Given the description of an element on the screen output the (x, y) to click on. 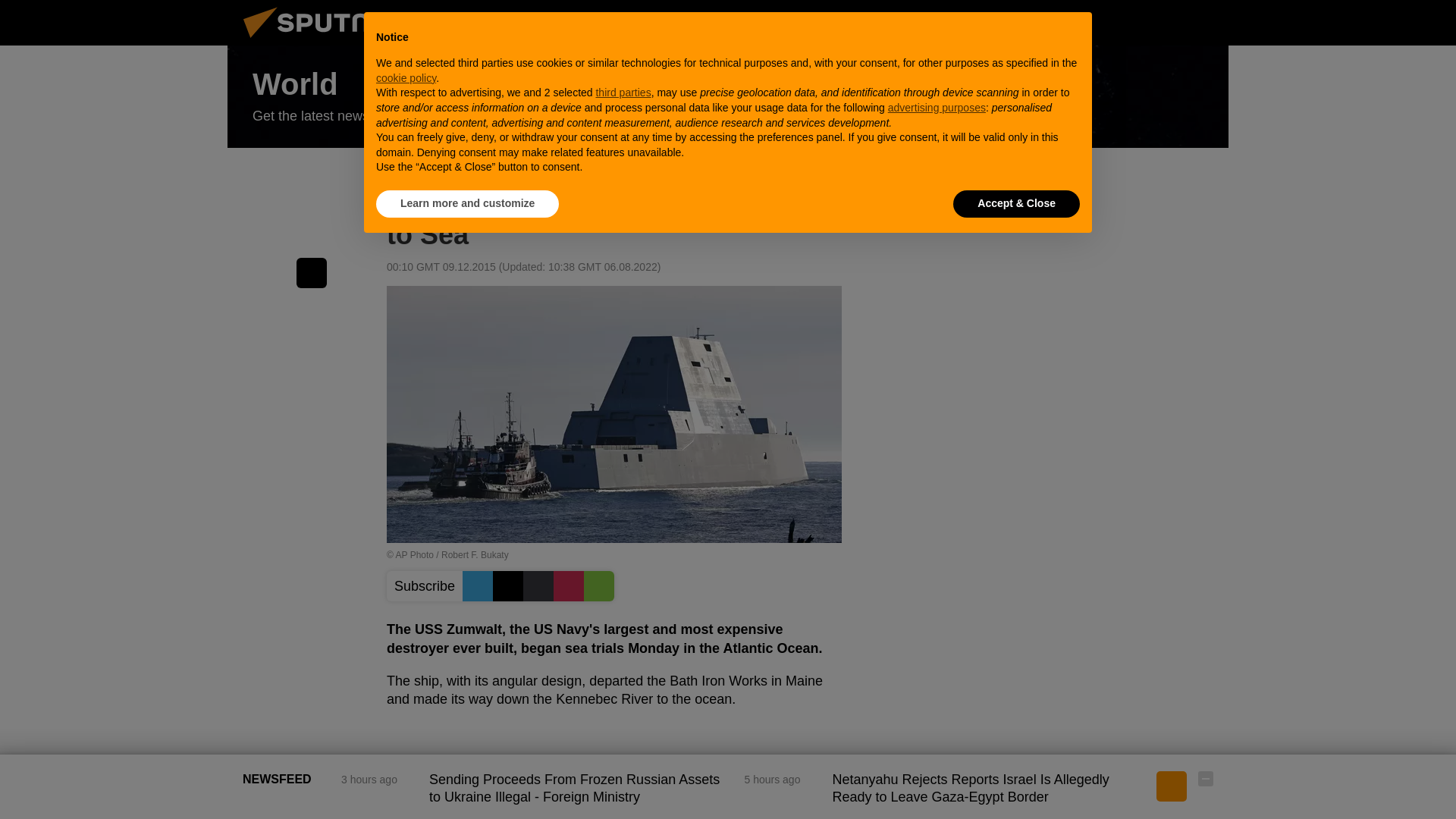
World (727, 96)
Authorization (1129, 22)
Chats (1206, 22)
Sputnik International (325, 41)
